Given the description of an element on the screen output the (x, y) to click on. 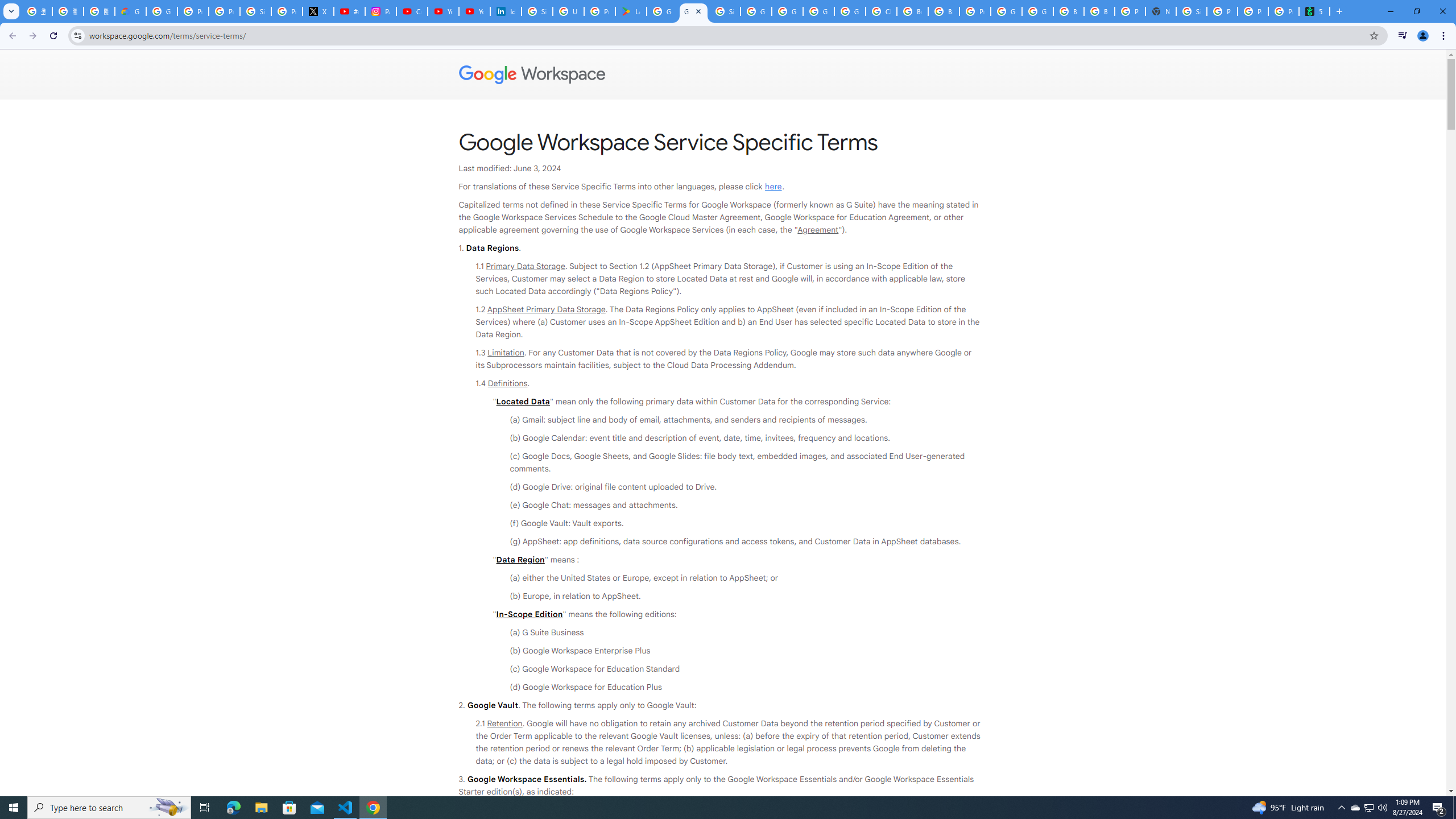
Google Workspace (723, 74)
X (318, 11)
Google Cloud Platform (1005, 11)
Browse Chrome as a guest - Computer - Google Chrome Help (1068, 11)
Google Cloud Platform (818, 11)
